Given the description of an element on the screen output the (x, y) to click on. 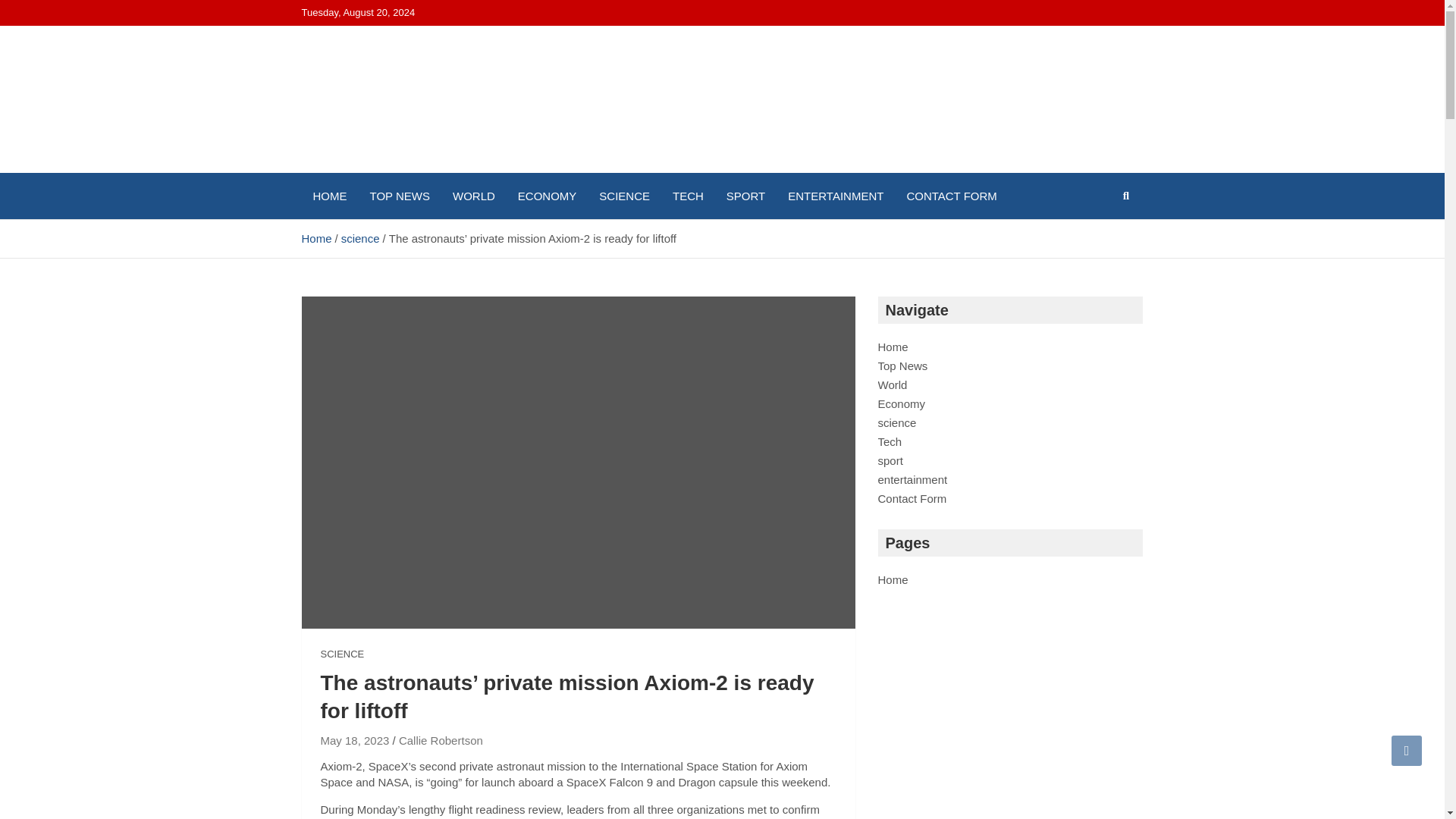
science (360, 237)
ENTERTAINMENT (835, 195)
SPORT (745, 195)
Home (892, 346)
TOP NEWS (399, 195)
World (892, 384)
May 18, 2023 (354, 740)
Callie Robertson (440, 740)
WORLD (473, 195)
Home (316, 237)
